Given the description of an element on the screen output the (x, y) to click on. 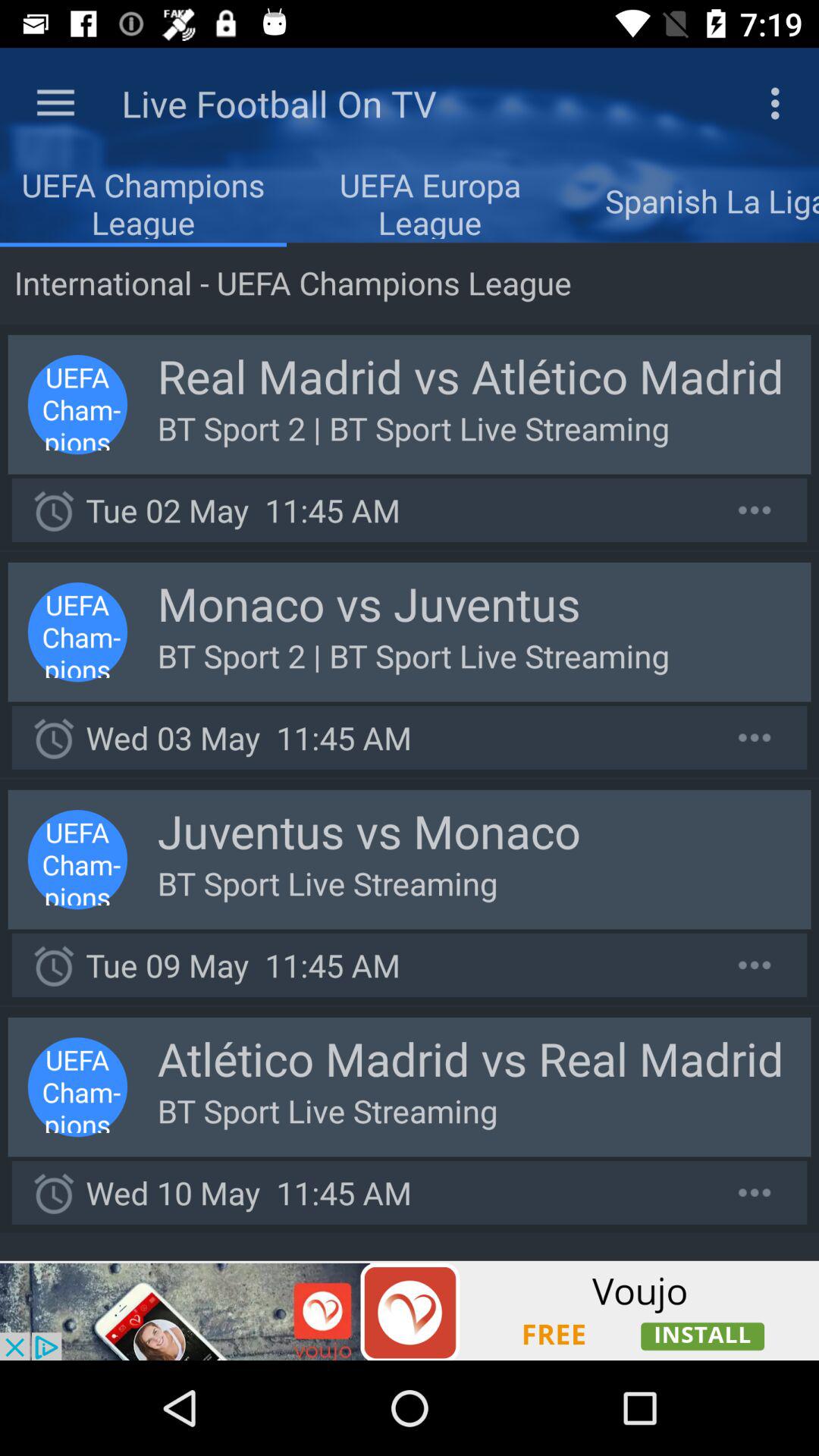
more information (755, 510)
